Given the description of an element on the screen output the (x, y) to click on. 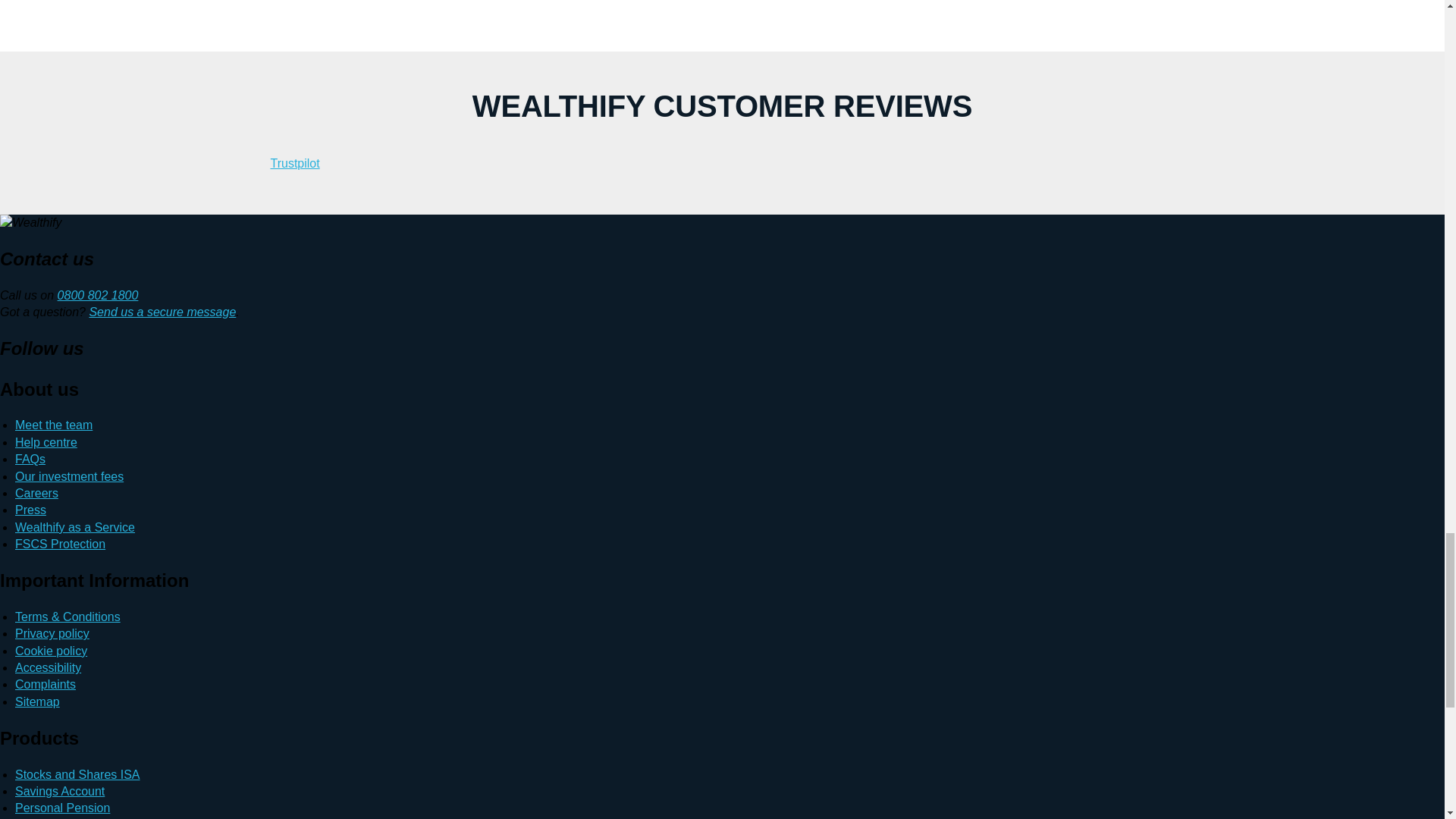
Send us a secure message (161, 311)
Trustpilot (293, 163)
0800 802 1800 (98, 295)
Help centre (45, 441)
Meet the team (53, 424)
